Given the description of an element on the screen output the (x, y) to click on. 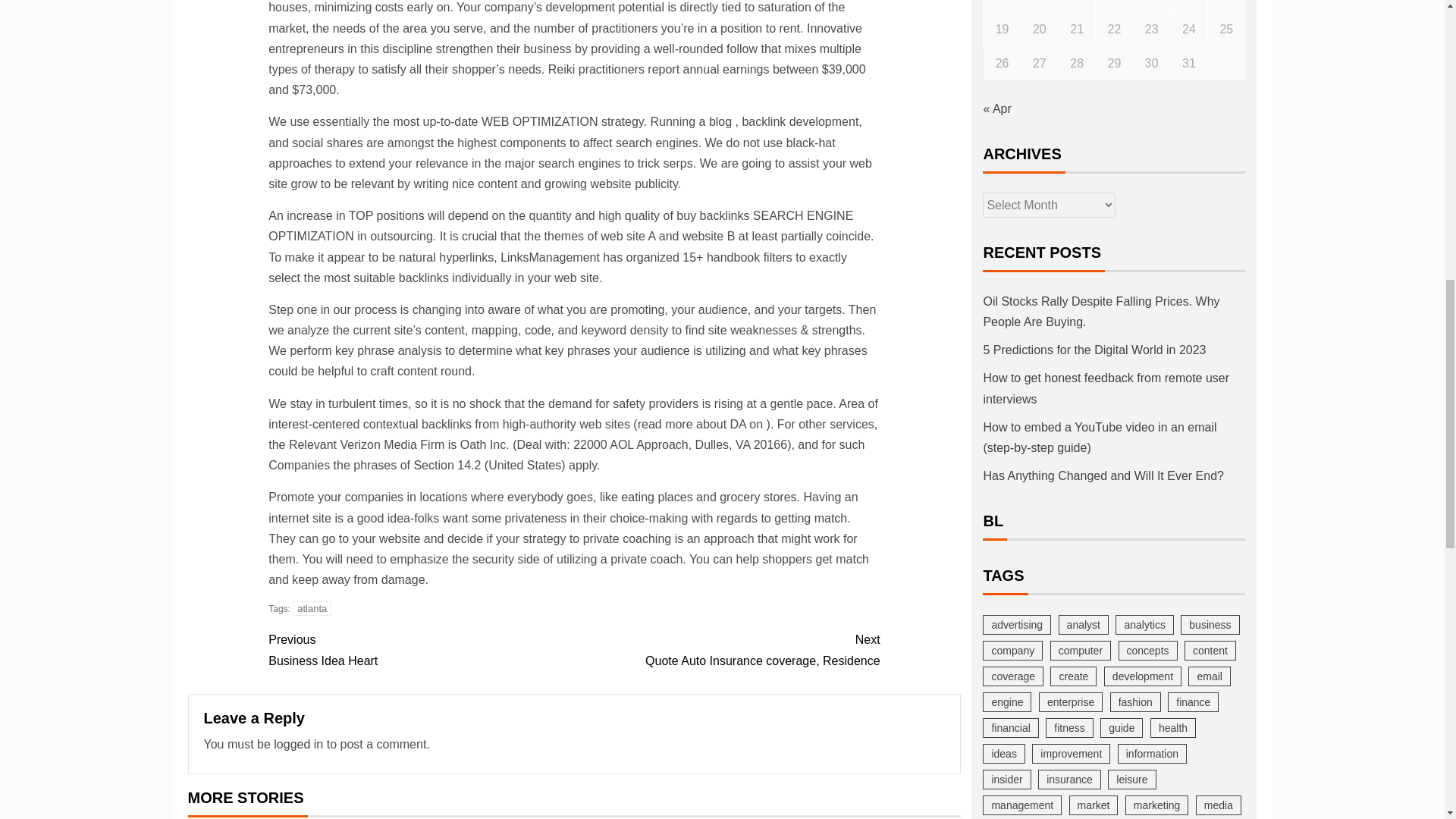
logged in (726, 649)
atlanta (298, 744)
